Given the description of an element on the screen output the (x, y) to click on. 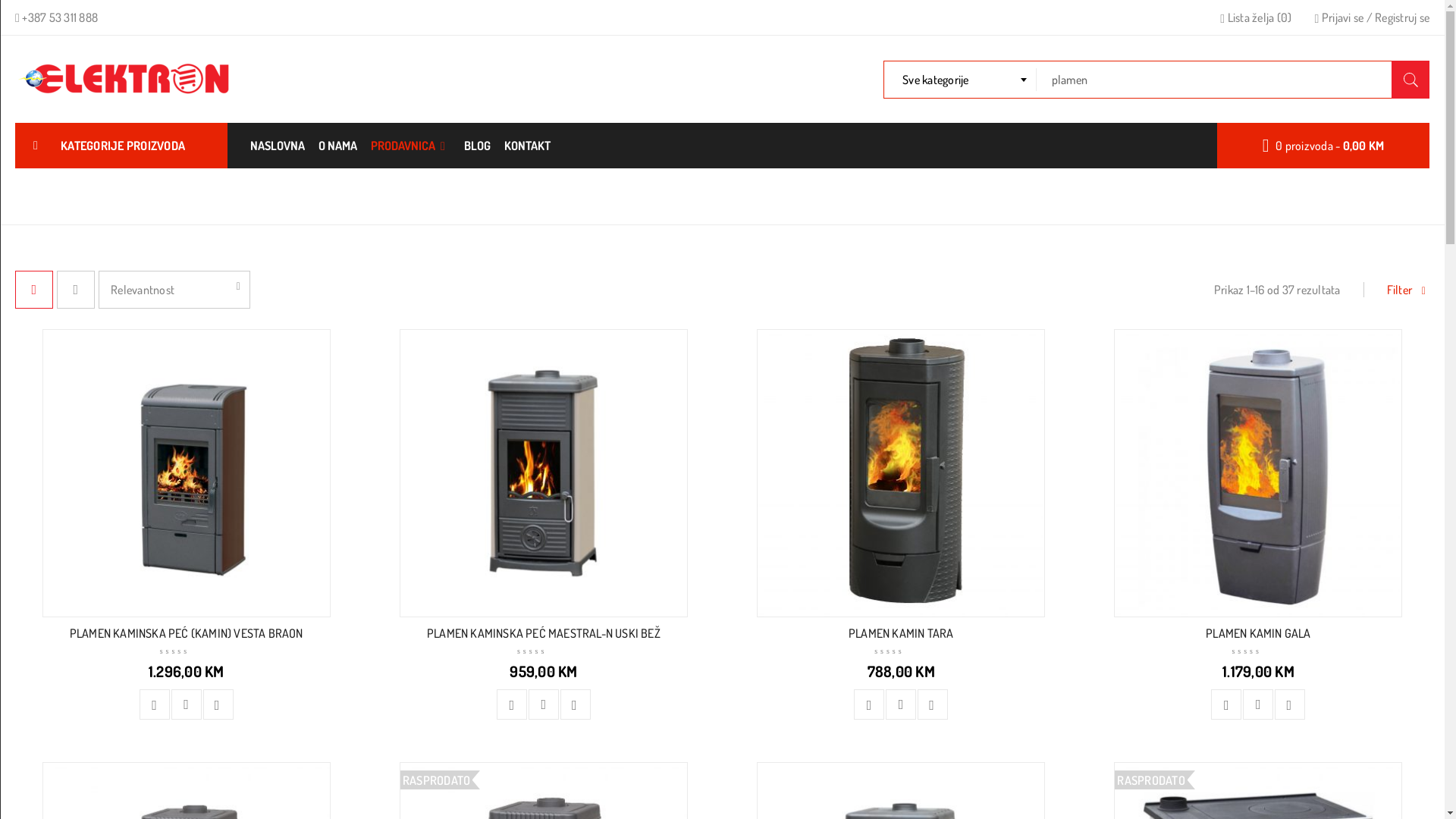
KONTAKT Element type: text (527, 145)
Prodavnica Element type: text (1214, 195)
PLAMEN KAMIN GALA Element type: text (1257, 632)
Prijavi se Element type: text (1342, 17)
Uporedi Element type: text (1257, 704)
Uporedi Element type: text (543, 704)
Filter Element type: text (1407, 289)
Uporedi Element type: text (186, 704)
BLOG Element type: text (477, 145)
O NAMA Element type: text (337, 145)
PRODAVNICA Element type: text (410, 145)
Elektron Shop Element type: hover (127, 79)
NASLOVNA Element type: text (277, 145)
PLAMEN KAMIN TARA Element type: text (900, 632)
0 proizvoda - 0,00 KM Element type: text (1323, 145)
Registruj se Element type: text (1401, 17)
Uporedi Element type: text (900, 704)
